Given the description of an element on the screen output the (x, y) to click on. 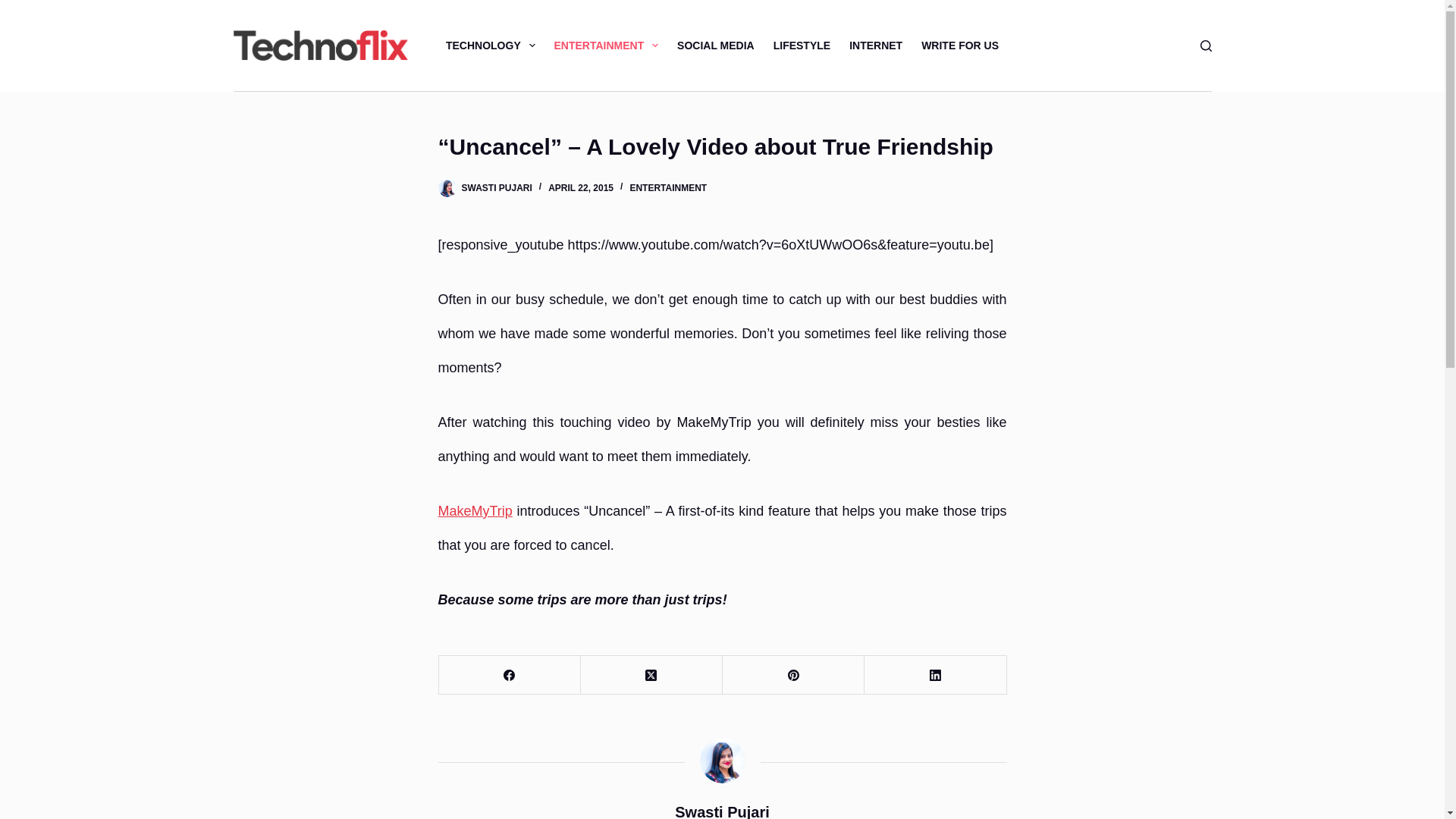
ENTERTAINMENT (667, 187)
Skip to content (15, 7)
SWASTI PUJARI (496, 187)
WRITE FOR US (960, 45)
TECHNOLOGY (489, 45)
ENTERTAINMENT (606, 45)
Posts by Swasti Pujari (496, 187)
SOCIAL MEDIA (716, 45)
MakeMyTrip (475, 510)
